Given the description of an element on the screen output the (x, y) to click on. 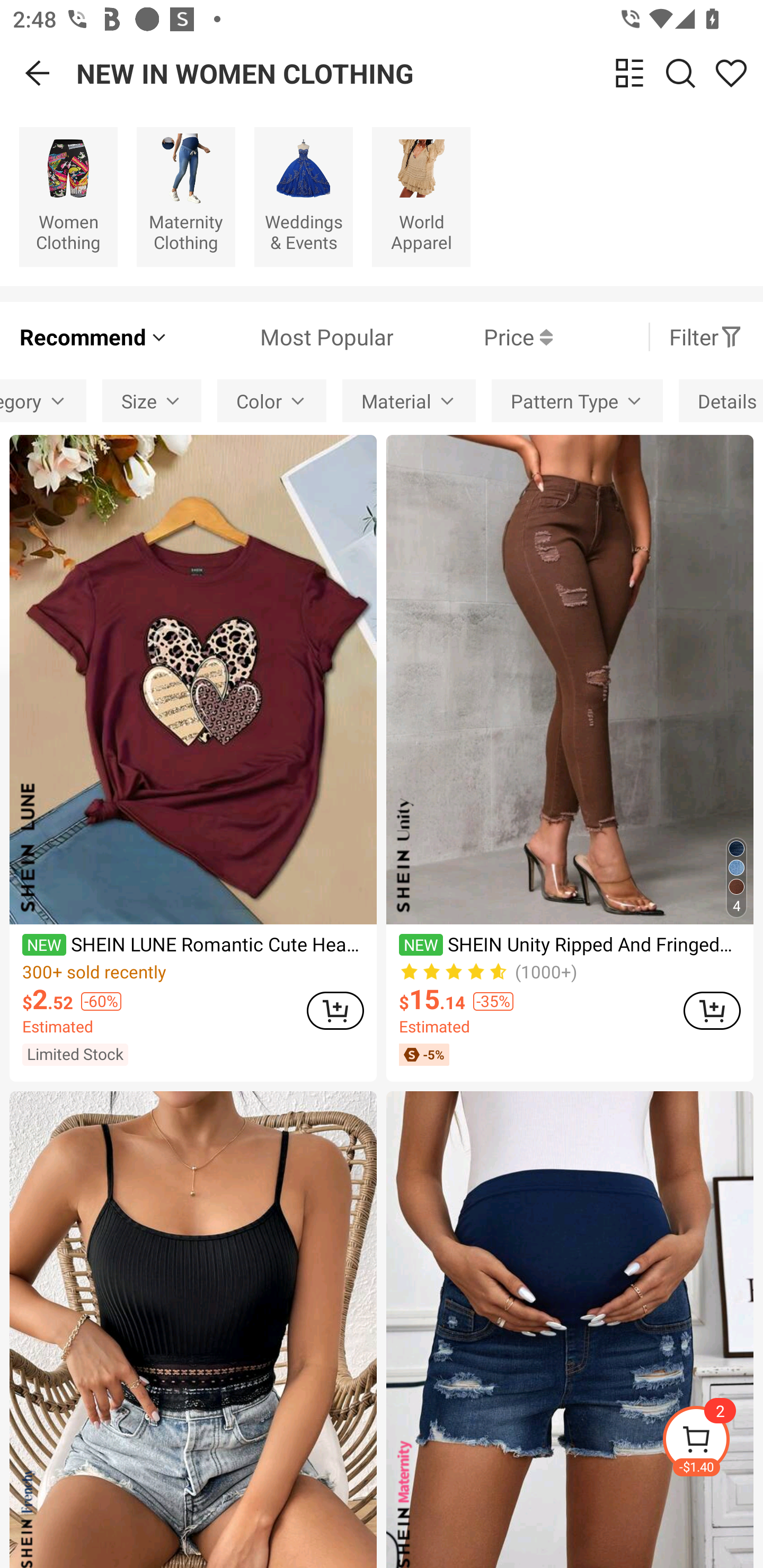
NEW IN WOMEN CLOTHING change view Search Share (419, 72)
change view (629, 72)
Search (679, 72)
Share (730, 72)
Women Clothing (68, 196)
Maternity Clothing (185, 196)
Weddings & Events (303, 196)
World Apparel (421, 196)
Recommend (94, 336)
Most Popular (280, 336)
Price (472, 336)
Filter (705, 336)
Category (43, 400)
Size (151, 400)
Color (271, 400)
Material (409, 400)
Pattern Type (577, 400)
Details (721, 400)
ADD TO CART (334, 1010)
ADD TO CART (711, 1010)
-$1.40 (712, 1441)
